Given the description of an element on the screen output the (x, y) to click on. 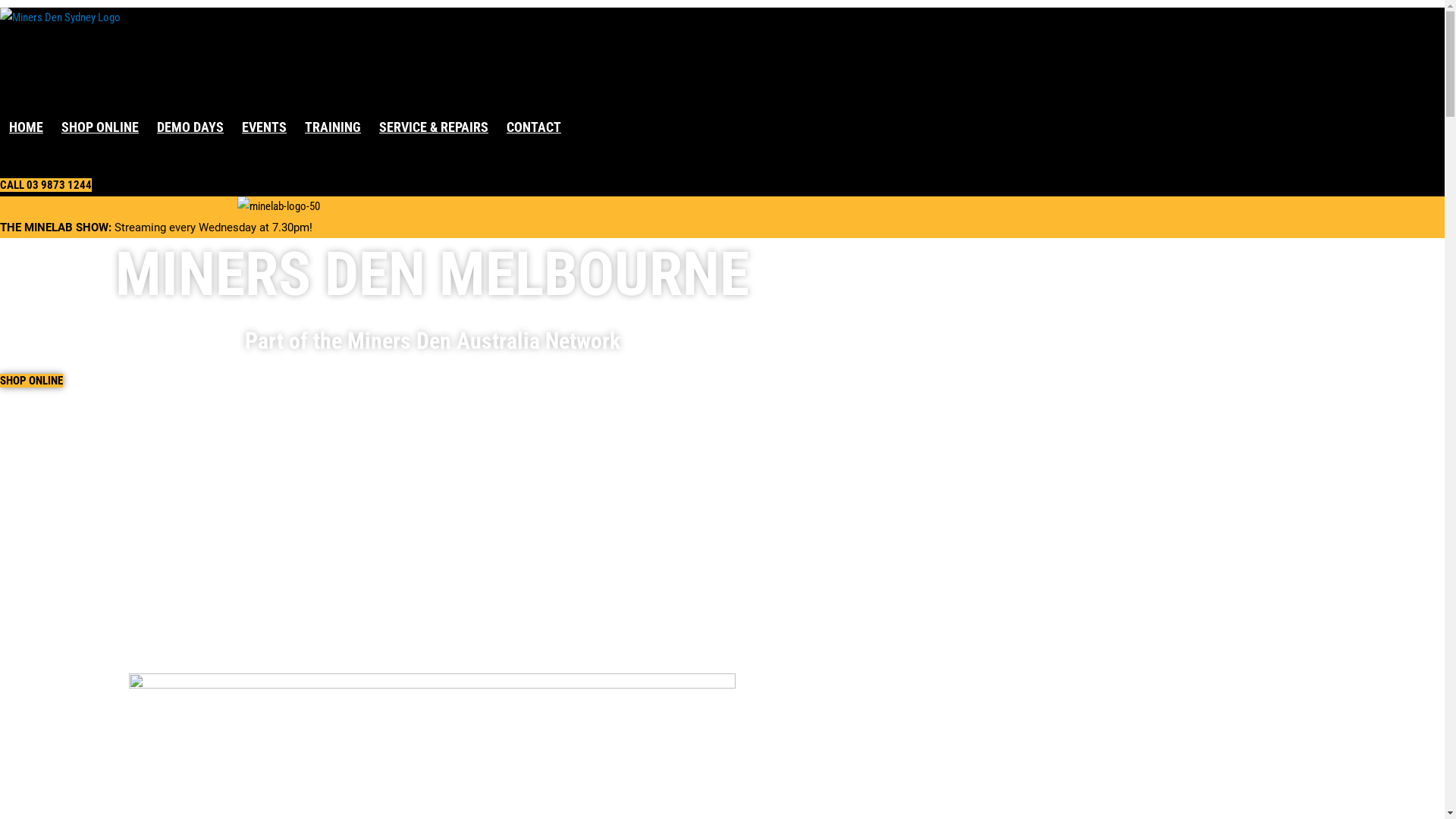
SHOP ONLINE Element type: text (99, 126)
DEMO DAYS Element type: text (189, 126)
SHOP ONLINE Element type: text (31, 380)
TRAINING Element type: text (332, 126)
EVENTS Element type: text (263, 126)
minelab-logo-50 Element type: hover (278, 206)
SERVICE & REPAIRS Element type: text (433, 126)
HOME Element type: text (26, 126)
CALL 03 9873 1244 Element type: text (45, 184)
CONTACT Element type: text (533, 126)
